Given the description of an element on the screen output the (x, y) to click on. 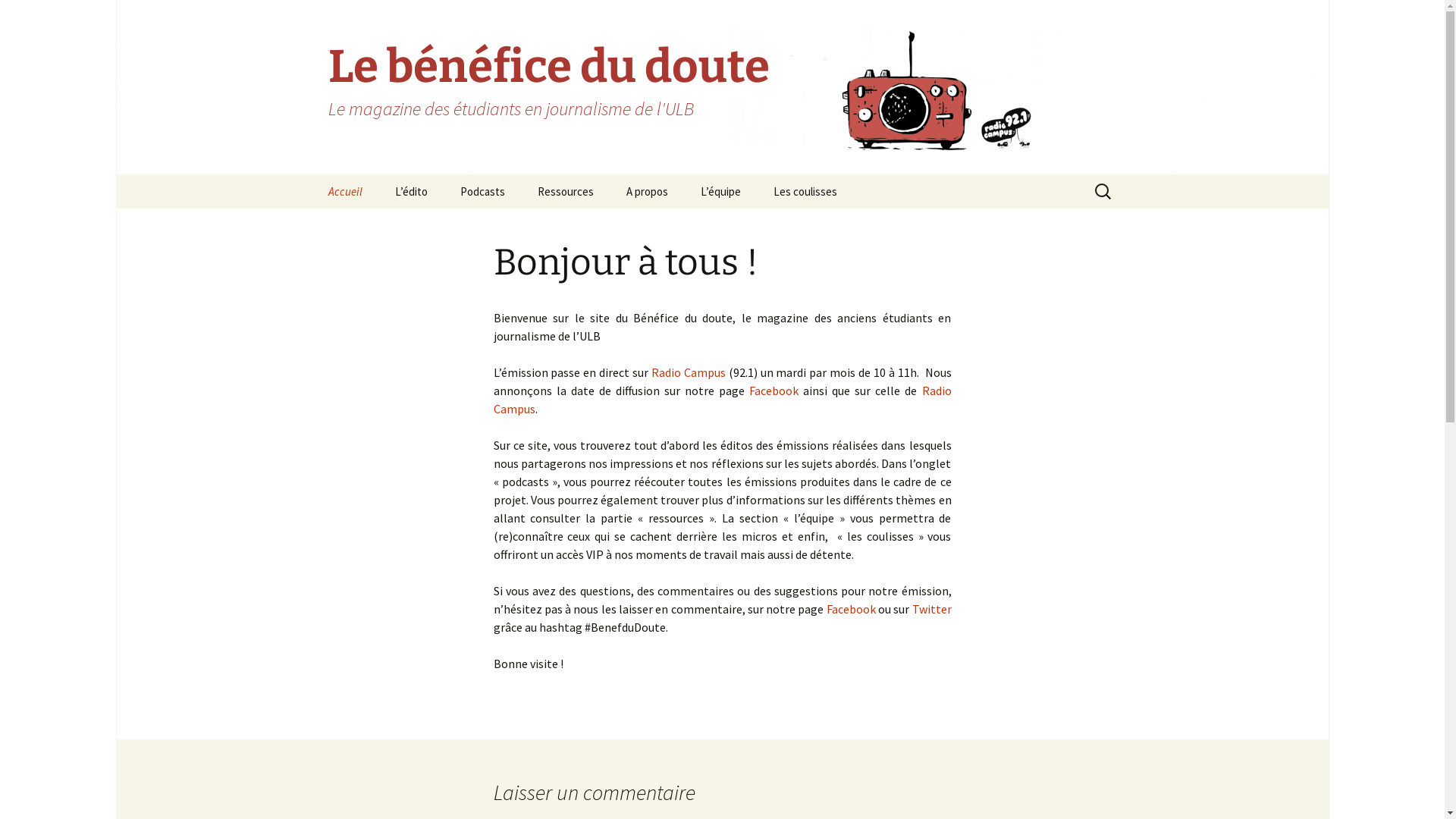
Podcasts Element type: text (481, 191)
Aller au contenu principal Element type: text (312, 173)
Rechercher Element type: text (44, 15)
A propos Element type: text (647, 191)
Twitter Element type: text (931, 608)
Radio Campus Element type: text (721, 399)
Les coulisses Element type: text (805, 191)
Radio Campus Element type: text (688, 371)
Accueil Element type: text (344, 191)
Facebook Element type: text (773, 390)
Ressources Element type: text (564, 191)
Rechercher Element type: text (18, 16)
Facebook  Element type: text (852, 608)
